Given the description of an element on the screen output the (x, y) to click on. 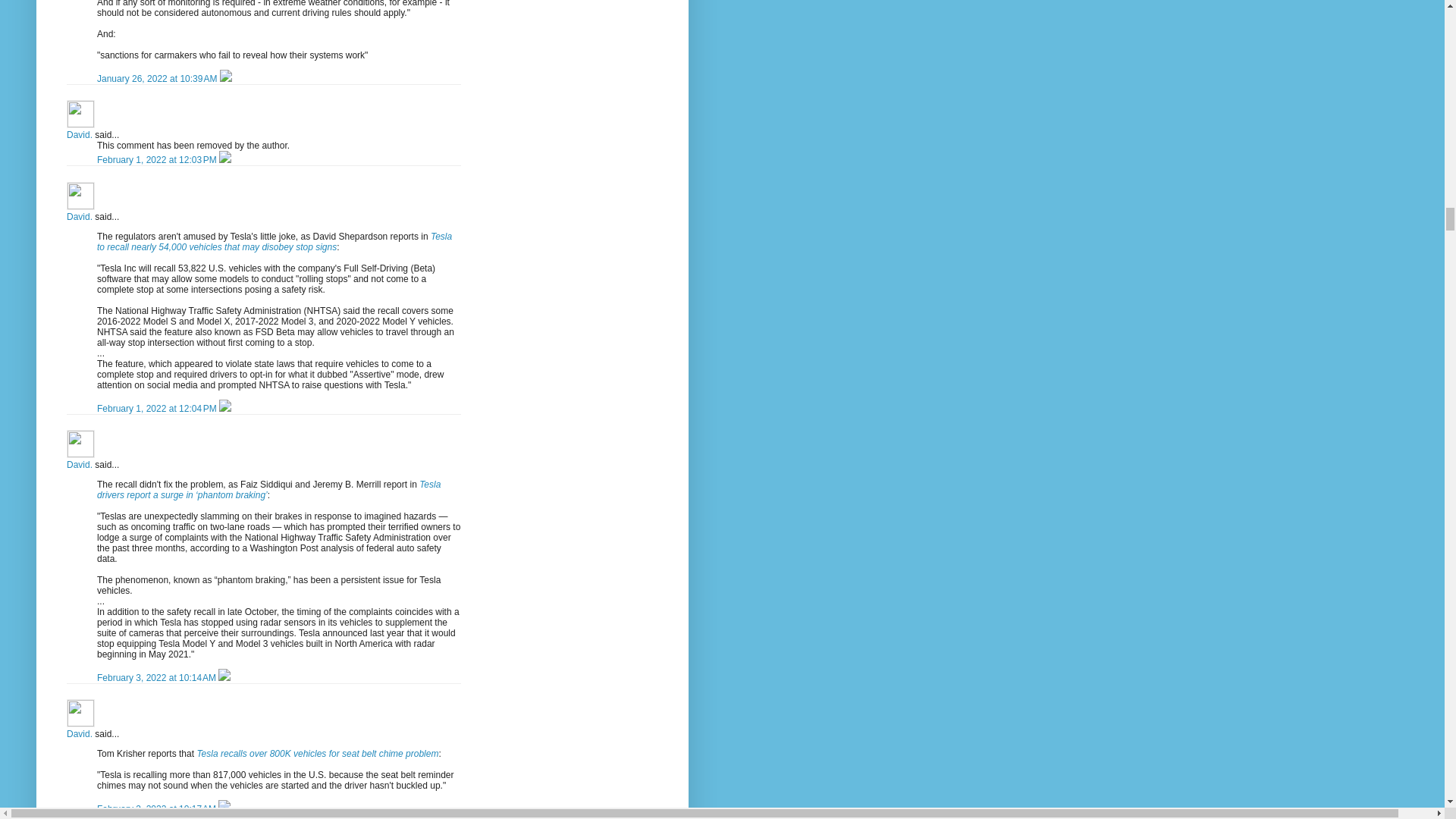
Delete Comment (224, 677)
David. (80, 195)
comment permalink (158, 159)
Delete Comment (225, 408)
Delete Comment (225, 159)
Delete Comment (225, 78)
David. (80, 113)
David. (80, 443)
comment permalink (157, 677)
comment permalink (158, 78)
comment permalink (158, 408)
